Given the description of an element on the screen output the (x, y) to click on. 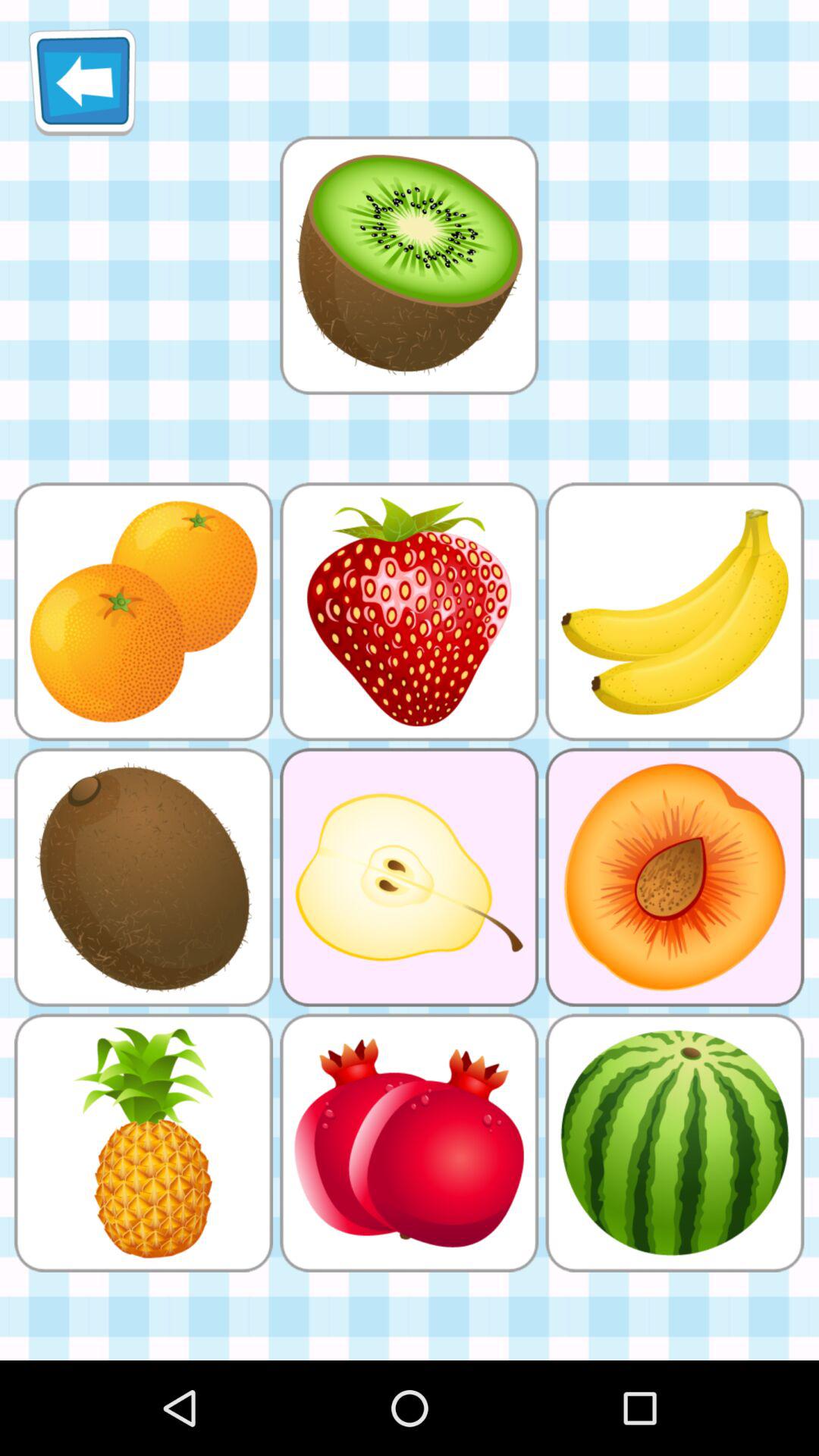
select object (409, 265)
